Given the description of an element on the screen output the (x, y) to click on. 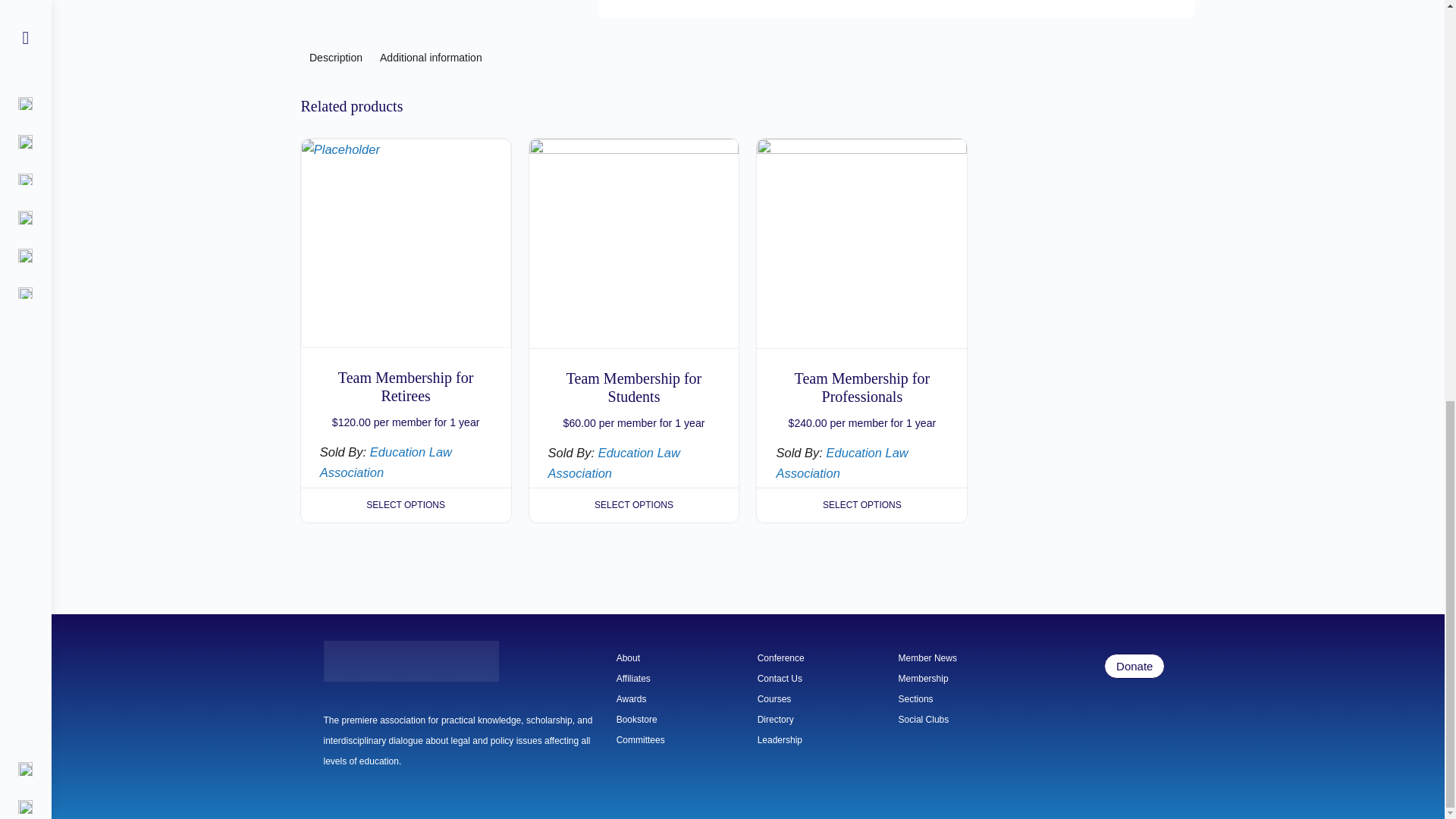
Education Law Association (613, 462)
Education Law Association (841, 462)
Education Law Association (385, 462)
